Given the description of an element on the screen output the (x, y) to click on. 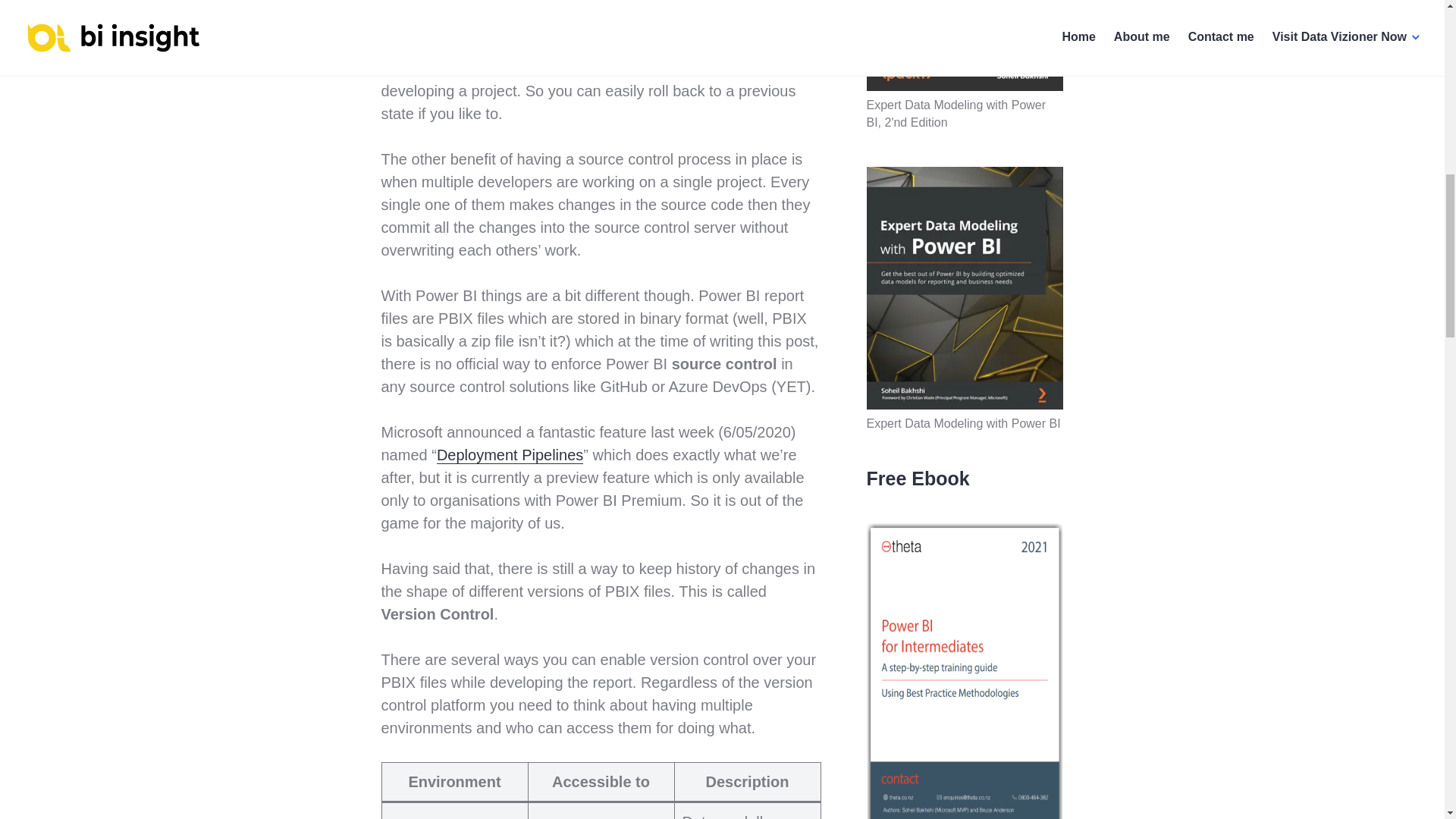
Deployment Pipelines (509, 454)
